Given the description of an element on the screen output the (x, y) to click on. 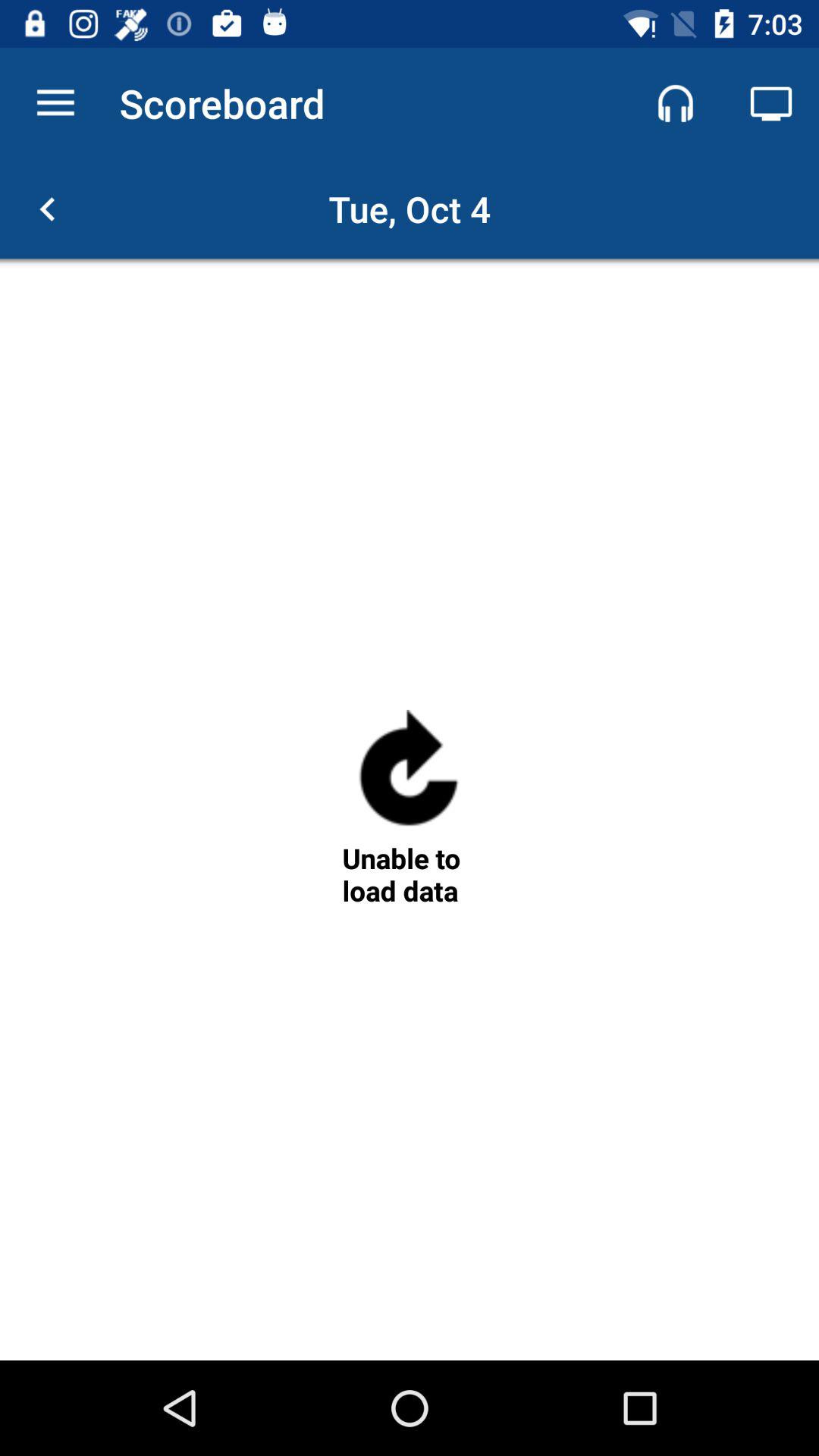
reload page (408, 774)
